Given the description of an element on the screen output the (x, y) to click on. 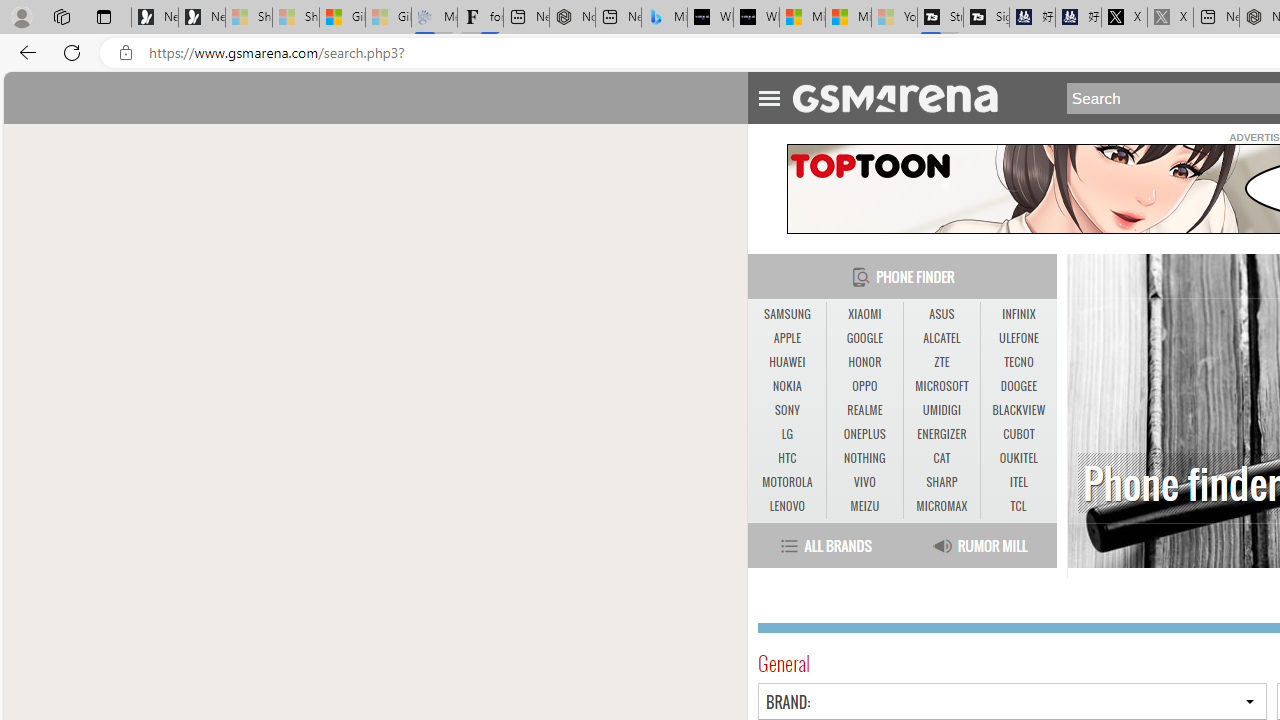
NOKIA (786, 385)
ULEFONE (1018, 339)
Microsoft Bing Travel - Shangri-La Hotel Bangkok (664, 17)
ENERGIZER (941, 434)
LENOVO (786, 506)
UMIDIGI (941, 410)
MEIZU (863, 506)
OPPO (863, 385)
ASUS (941, 313)
